Given the description of an element on the screen output the (x, y) to click on. 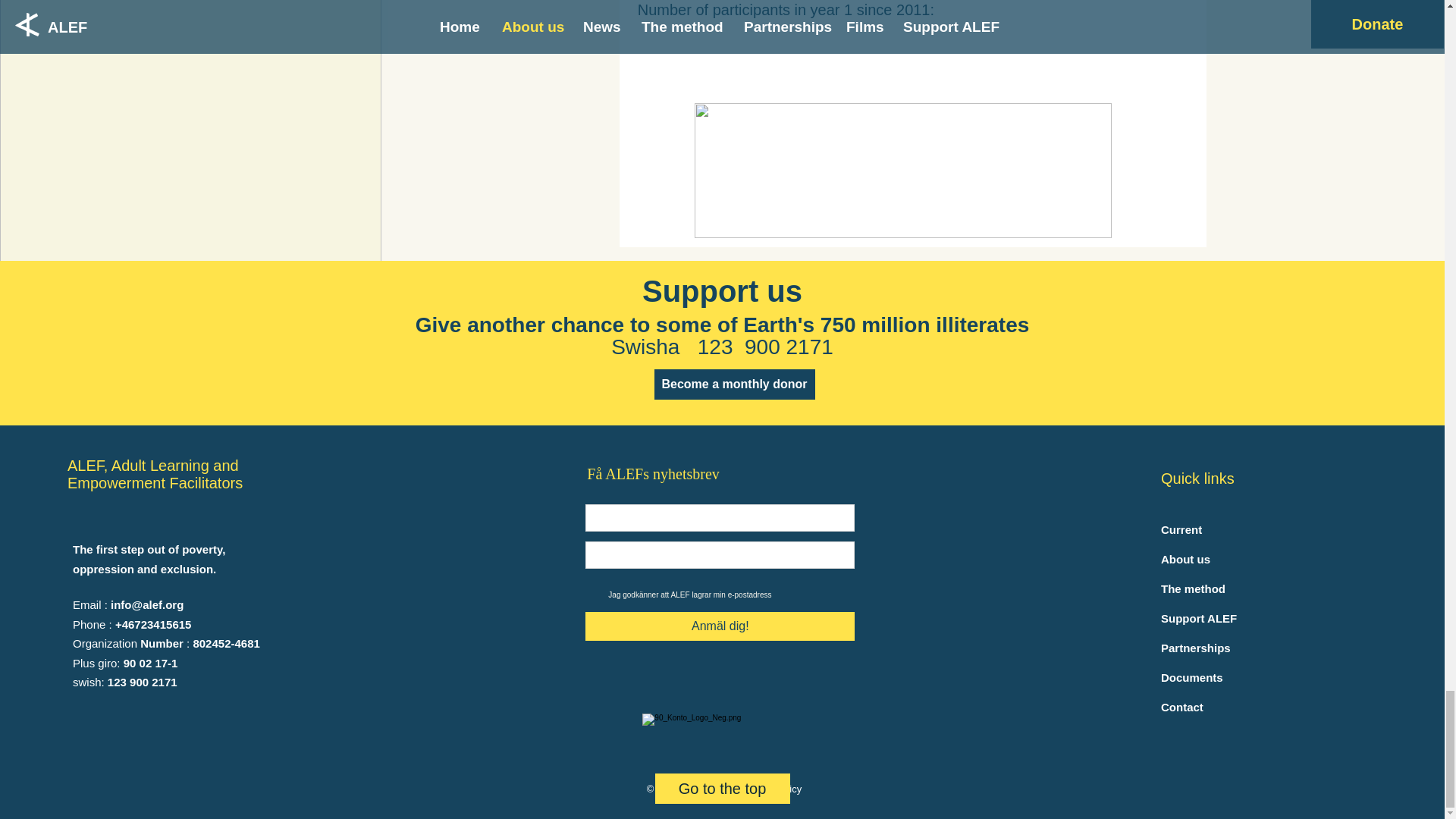
Chart (903, 170)
